Given the description of an element on the screen output the (x, y) to click on. 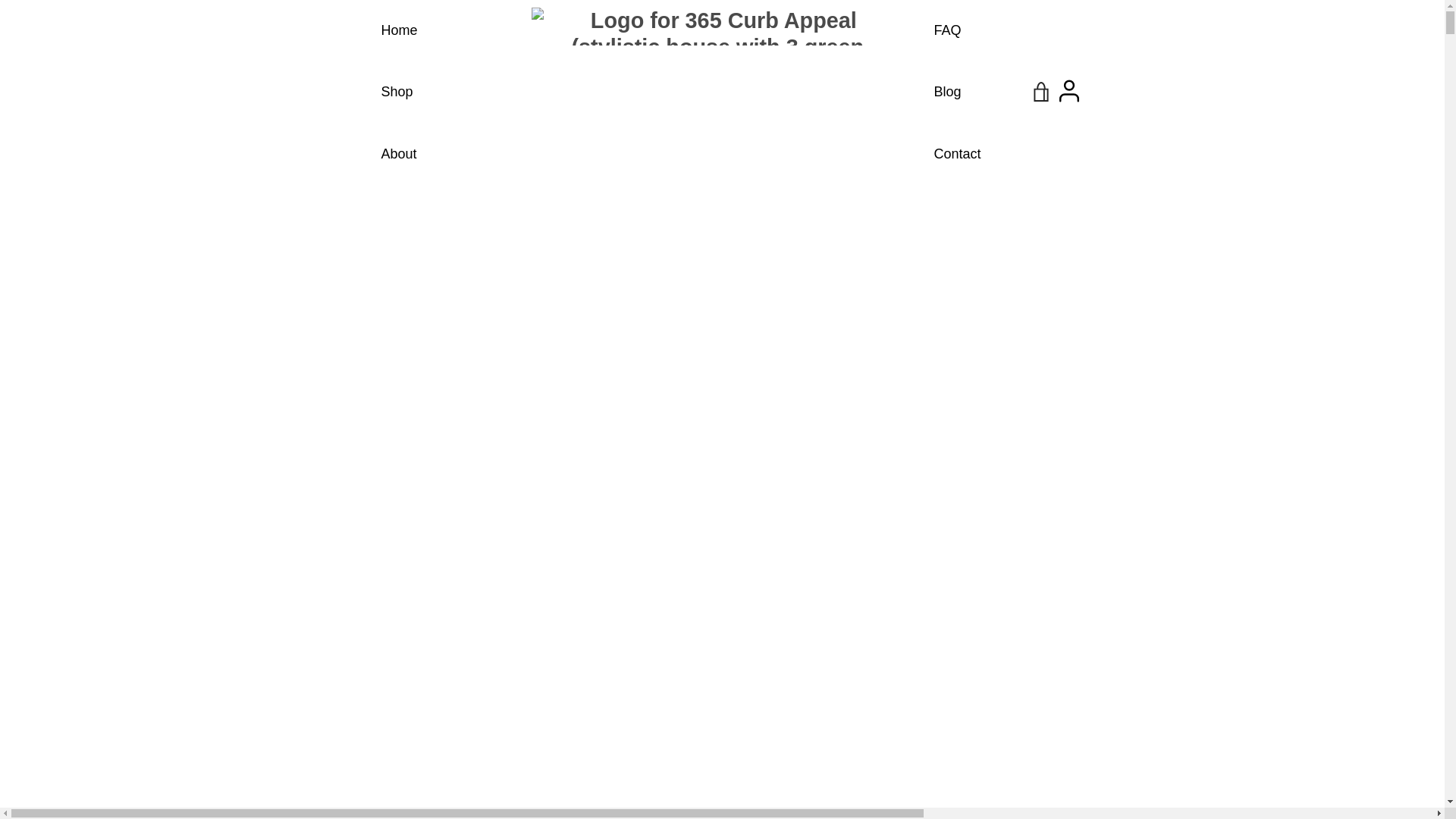
FAQ Element type: text (947, 30)
Contact Element type: text (957, 153)
VIEW CART Element type: text (1041, 92)
About Element type: text (398, 153)
Shop Element type: text (396, 91)
Blog Element type: text (947, 91)
Skip to content Element type: text (0, 0)
Home Element type: text (398, 30)
